Given the description of an element on the screen output the (x, y) to click on. 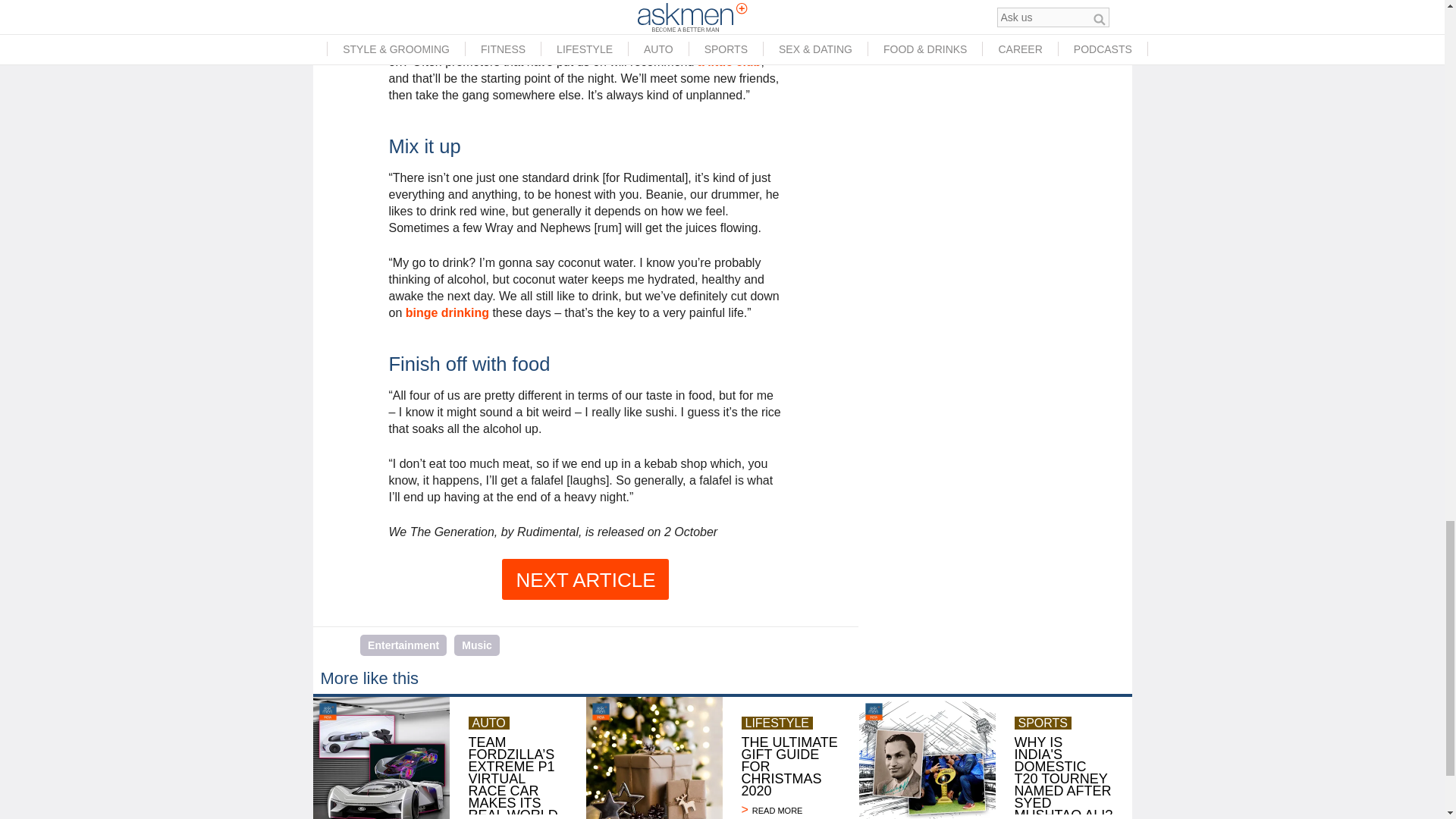
a little club (729, 61)
The Ultimate Gift Guide For Christmas 2020 (790, 809)
The Ultimate Gift Guide For Christmas 2020 (653, 757)
